Given the description of an element on the screen output the (x, y) to click on. 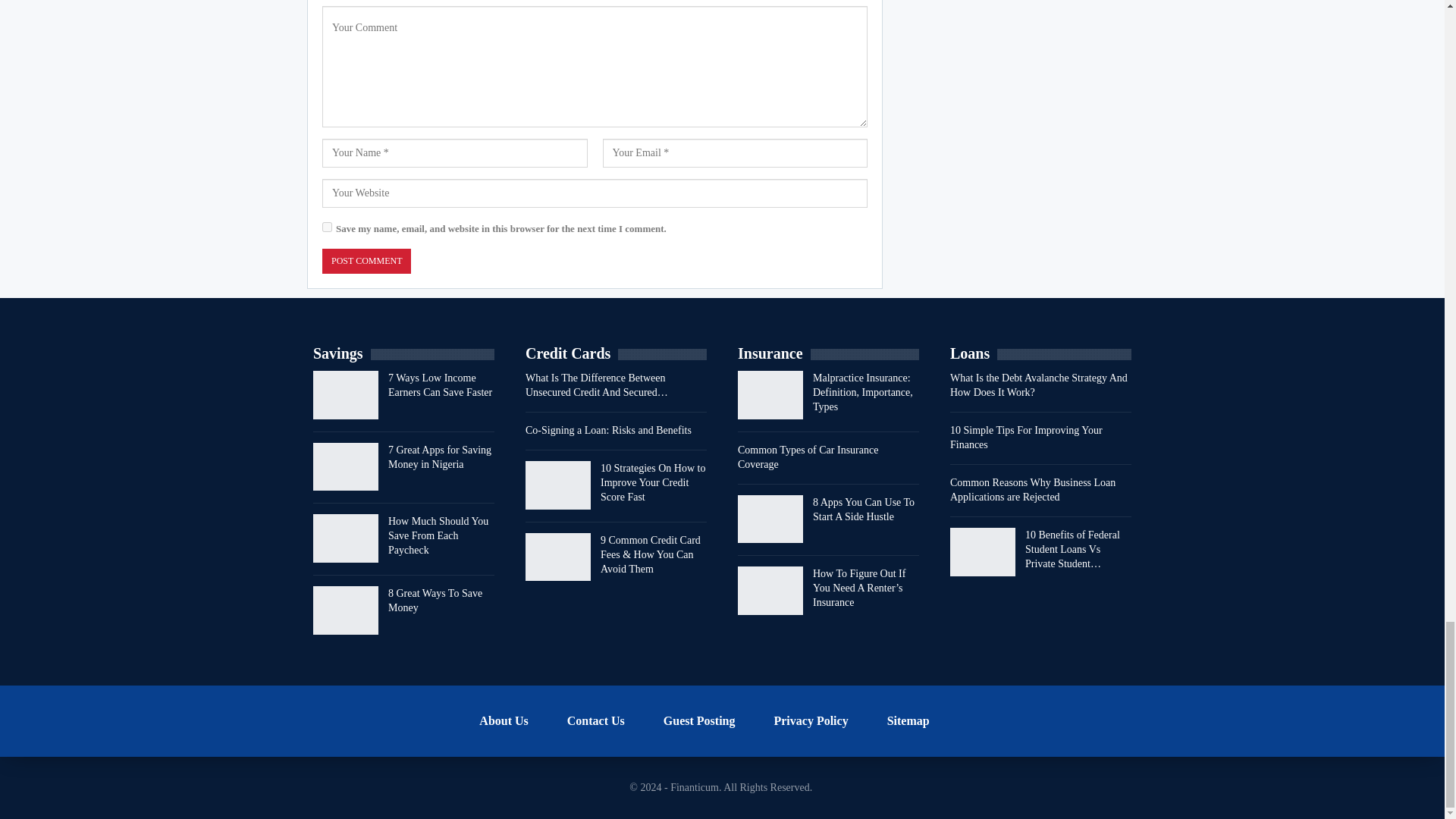
Post Comment (365, 260)
yes (326, 226)
7 Ways Low Income Earners Can Save Faster (345, 395)
